Given the description of an element on the screen output the (x, y) to click on. 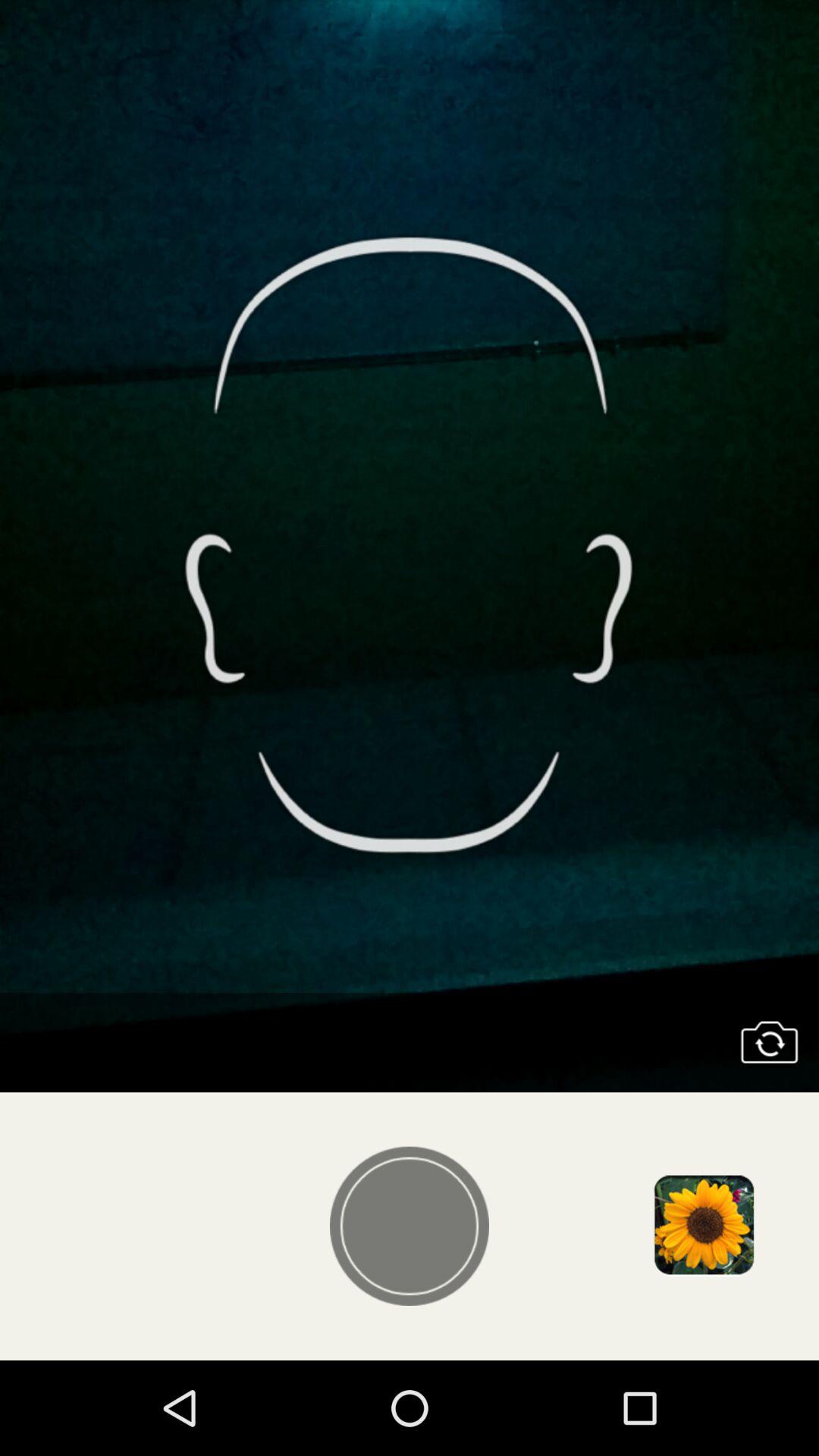
choose existing photo (703, 1225)
